Given the description of an element on the screen output the (x, y) to click on. 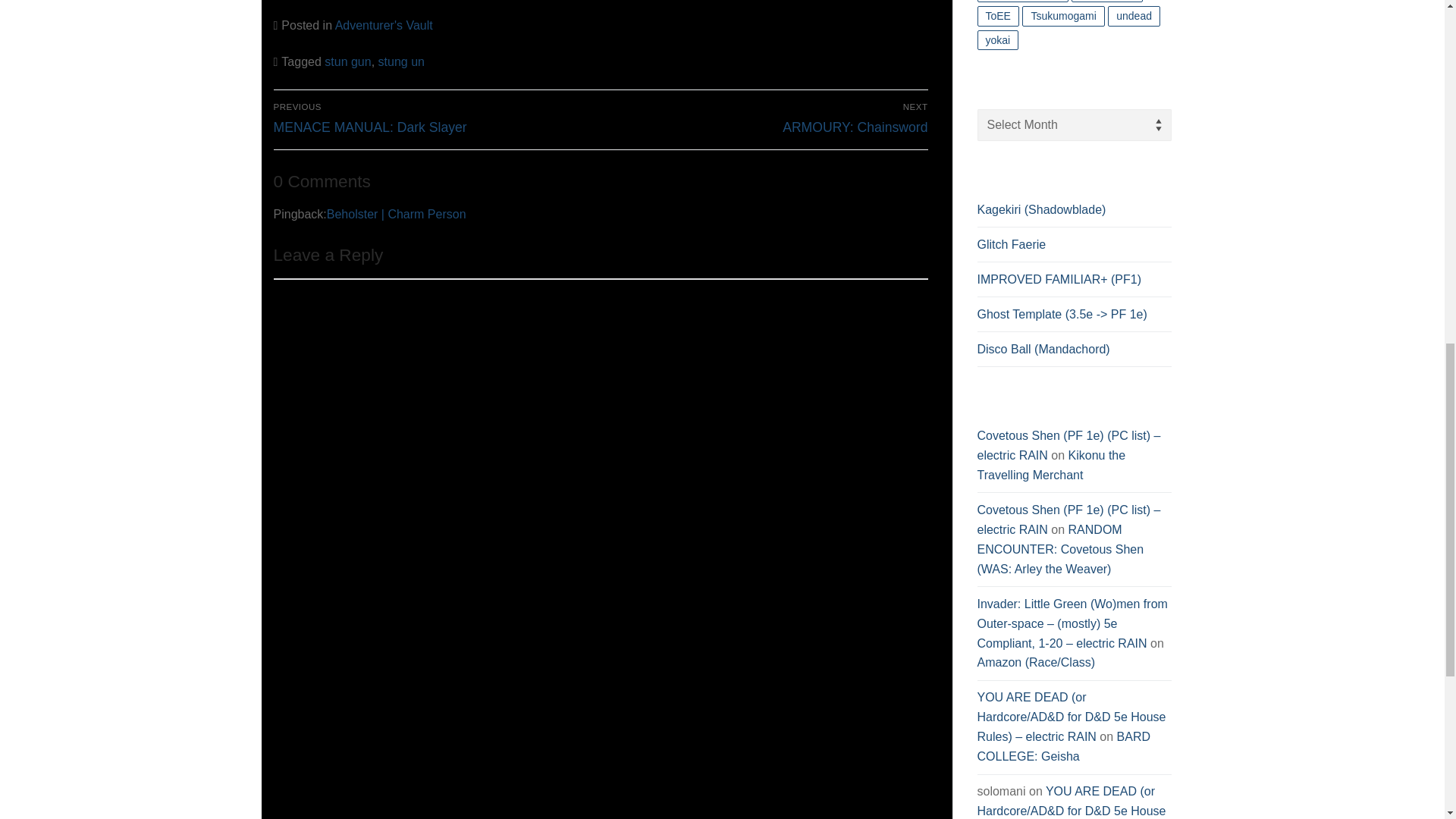
stung un (433, 118)
Adventurer's Vault (401, 61)
stun gun (383, 24)
